Given the description of an element on the screen output the (x, y) to click on. 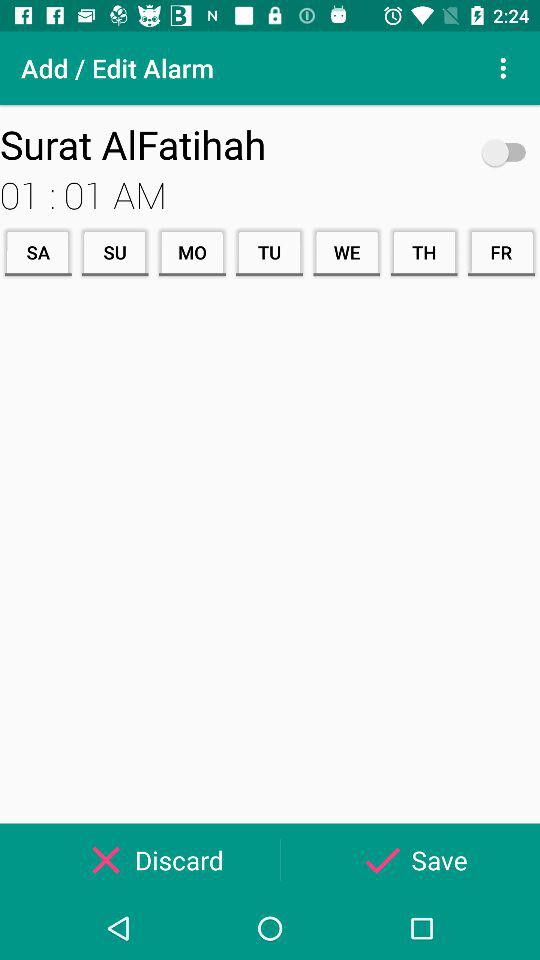
turn on item to the left of the mo icon (114, 251)
